Given the description of an element on the screen output the (x, y) to click on. 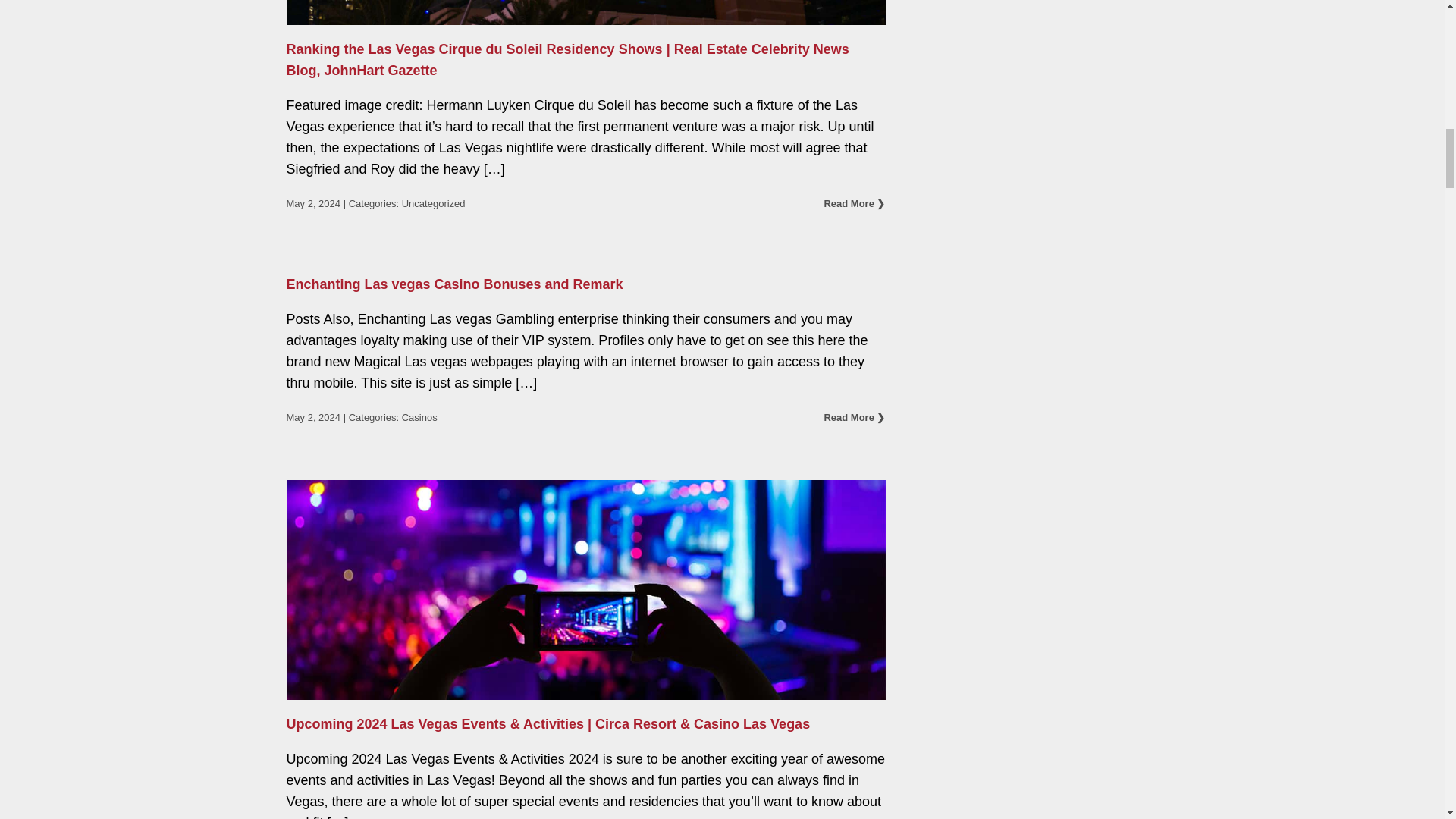
Enchanting Las vegas Casino Bonuses and Remark (454, 283)
